Given the description of an element on the screen output the (x, y) to click on. 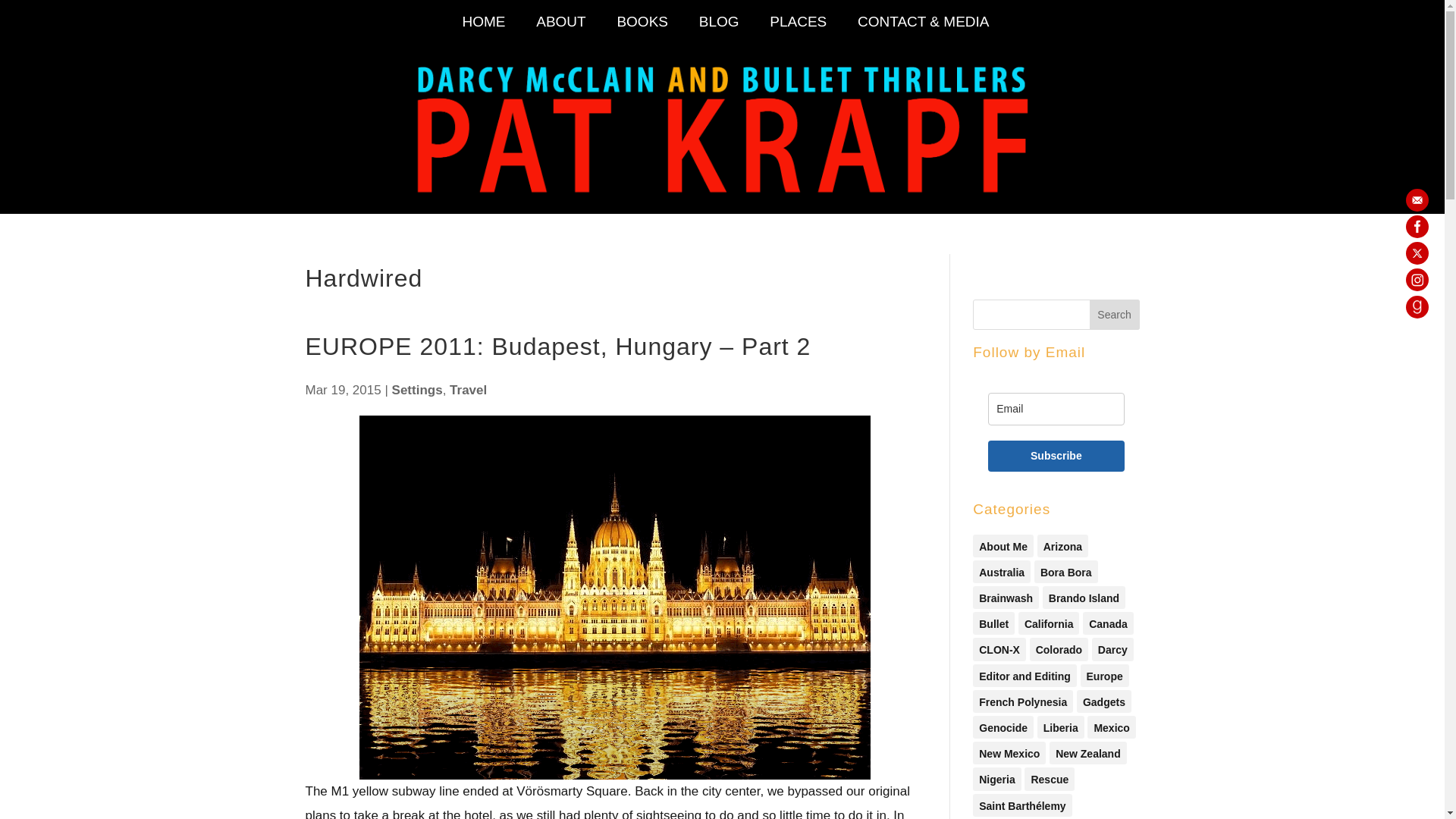
Bullet (993, 622)
California (1048, 622)
Search (1114, 314)
Europe (1104, 675)
HOME (483, 28)
header3-patk-2022 (721, 127)
French Polynesia (1022, 701)
Australia (1001, 571)
BLOG (719, 28)
Editor and Editing (1024, 675)
Settings (416, 390)
ABOUT (560, 28)
Brando Island (1083, 597)
PLACES (797, 28)
Colorado (1058, 649)
